Given the description of an element on the screen output the (x, y) to click on. 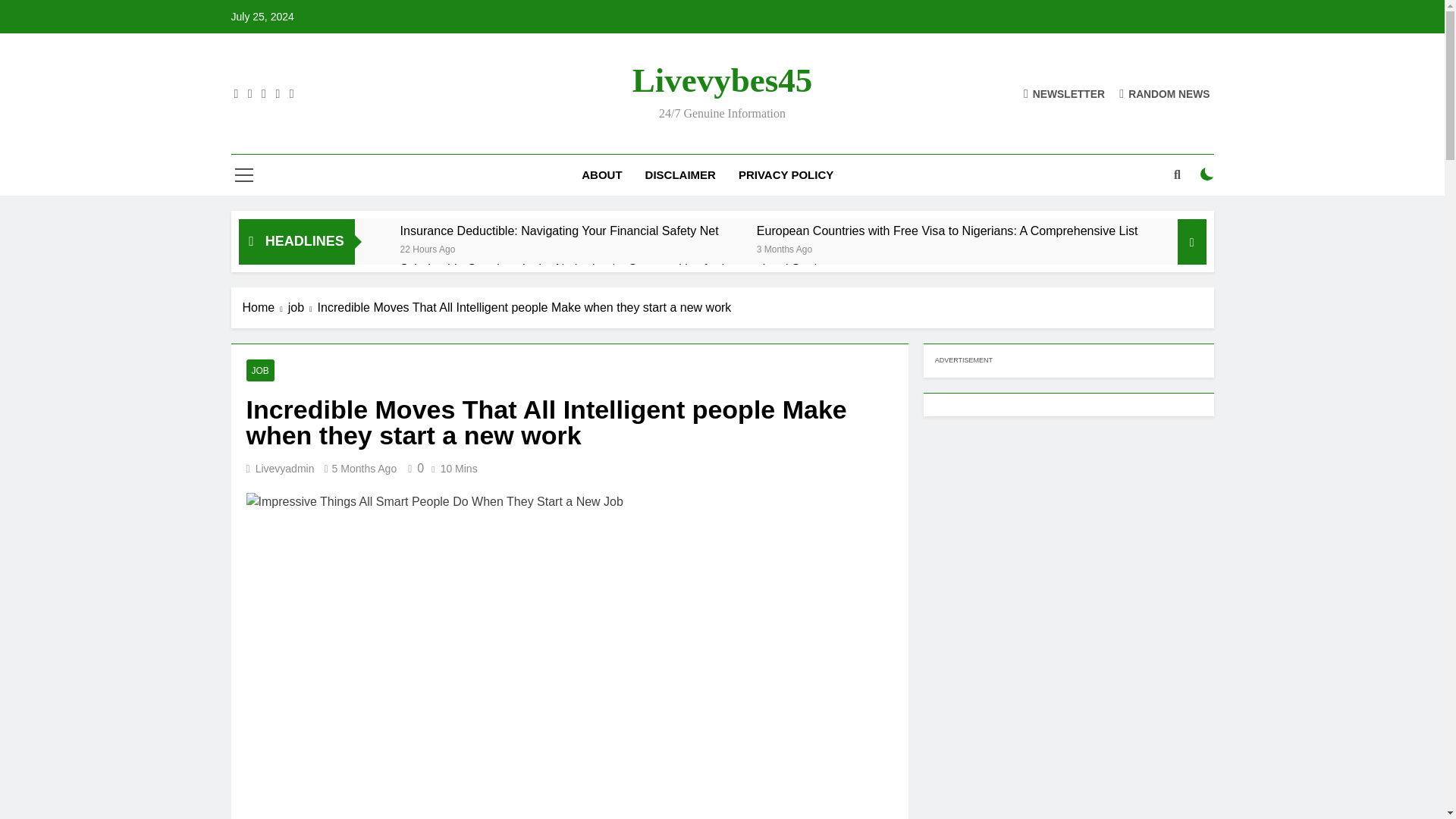
Insurance Deductible: Navigating Your Financial Safety Net (559, 230)
5 Months Ago (364, 468)
RANDOM NEWS (1164, 92)
DISCLAIMER (679, 174)
Livevyadmin (285, 468)
on (1206, 173)
Insurance Deductible: Navigating Your Financial Safety Net (559, 230)
ABOUT (601, 174)
JOB (259, 370)
22 Hours Ago (427, 247)
NEWSLETTER (1064, 92)
0 (413, 468)
